Given the description of an element on the screen output the (x, y) to click on. 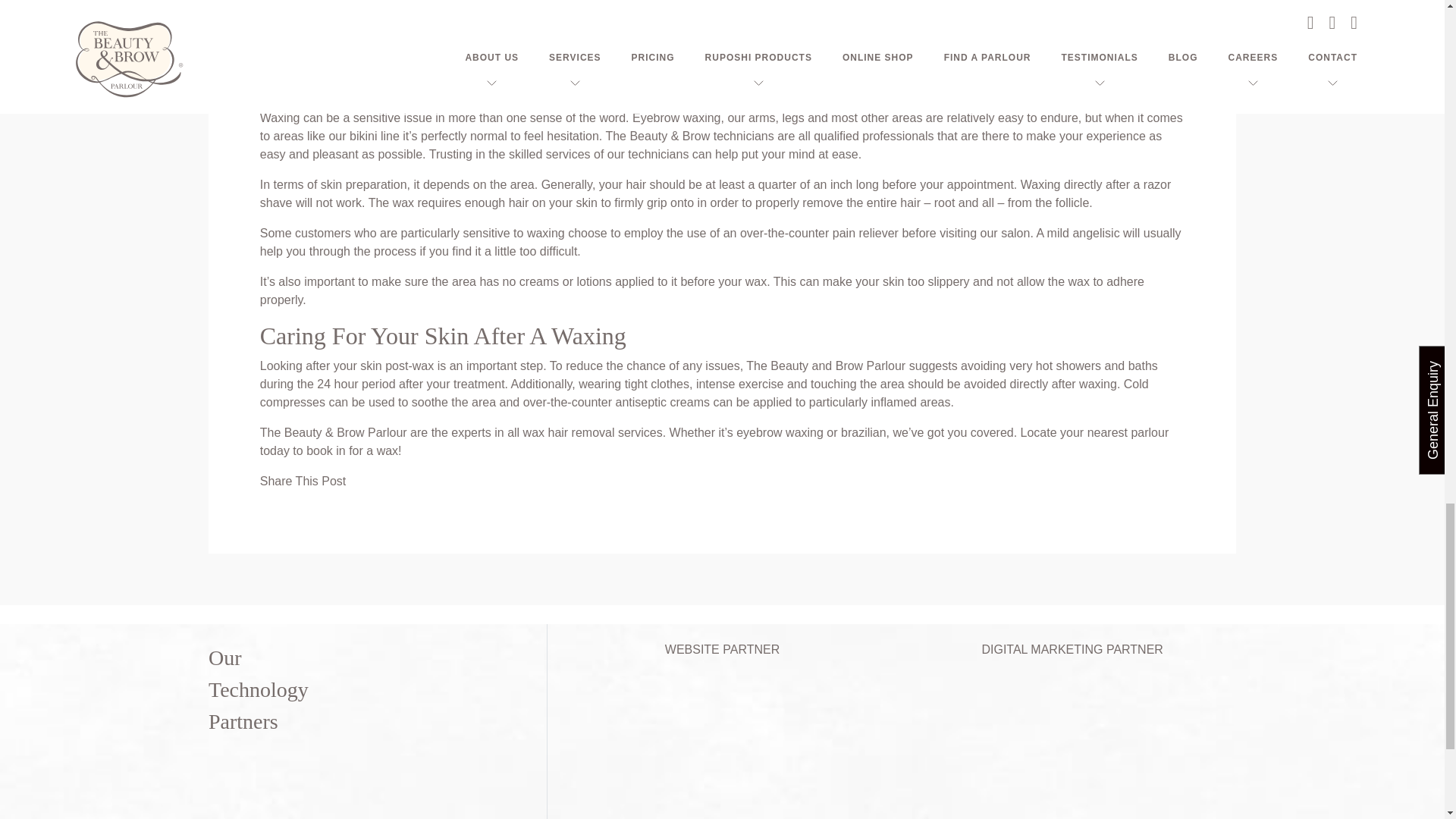
Body Waxing treatment (533, 48)
